Given the description of an element on the screen output the (x, y) to click on. 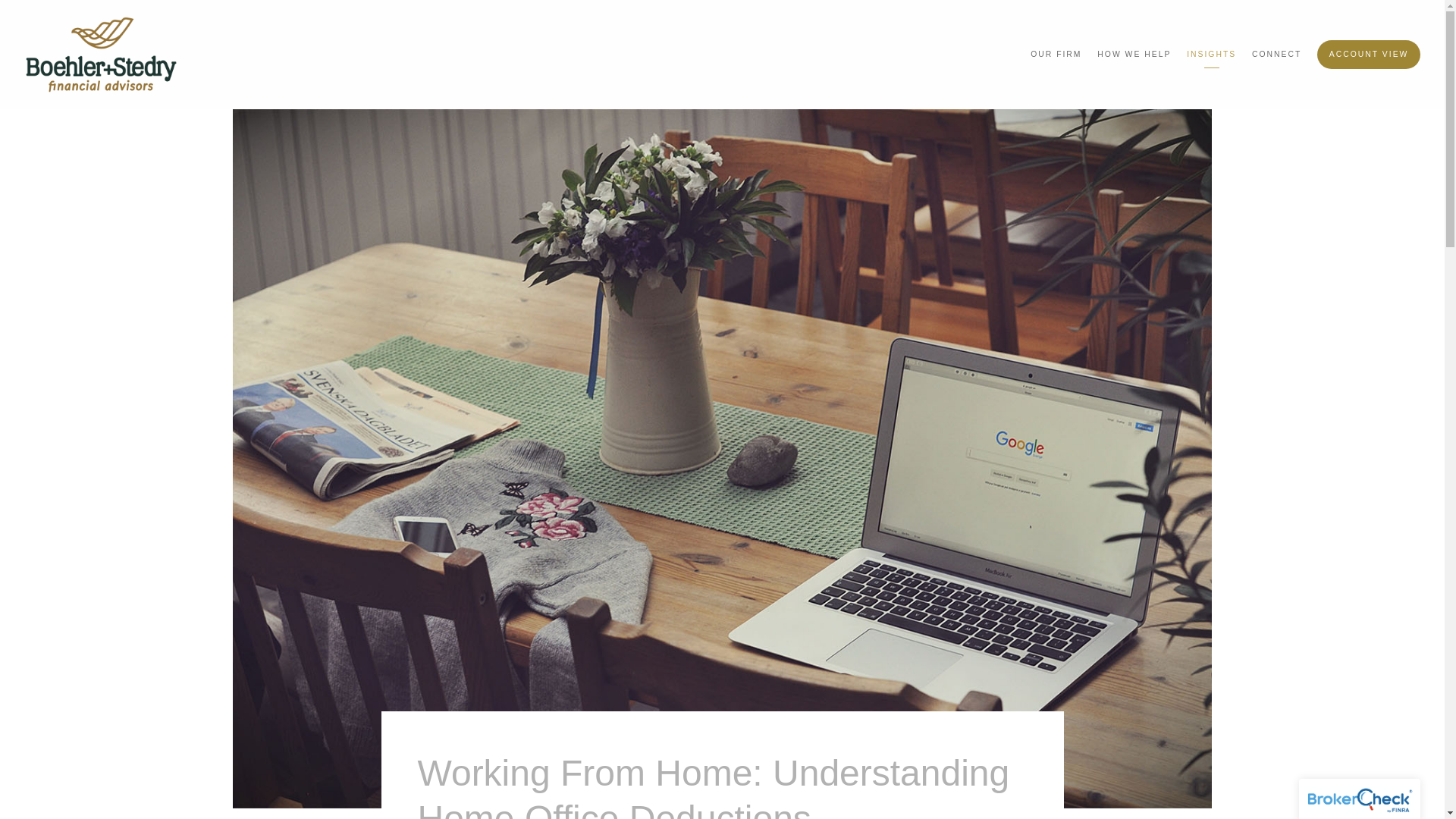
CONNECT (1276, 55)
OUR FIRM (1055, 55)
HOW WE HELP (1133, 55)
ACCOUNT VIEW (1369, 53)
INSIGHTS (1211, 55)
